Given the description of an element on the screen output the (x, y) to click on. 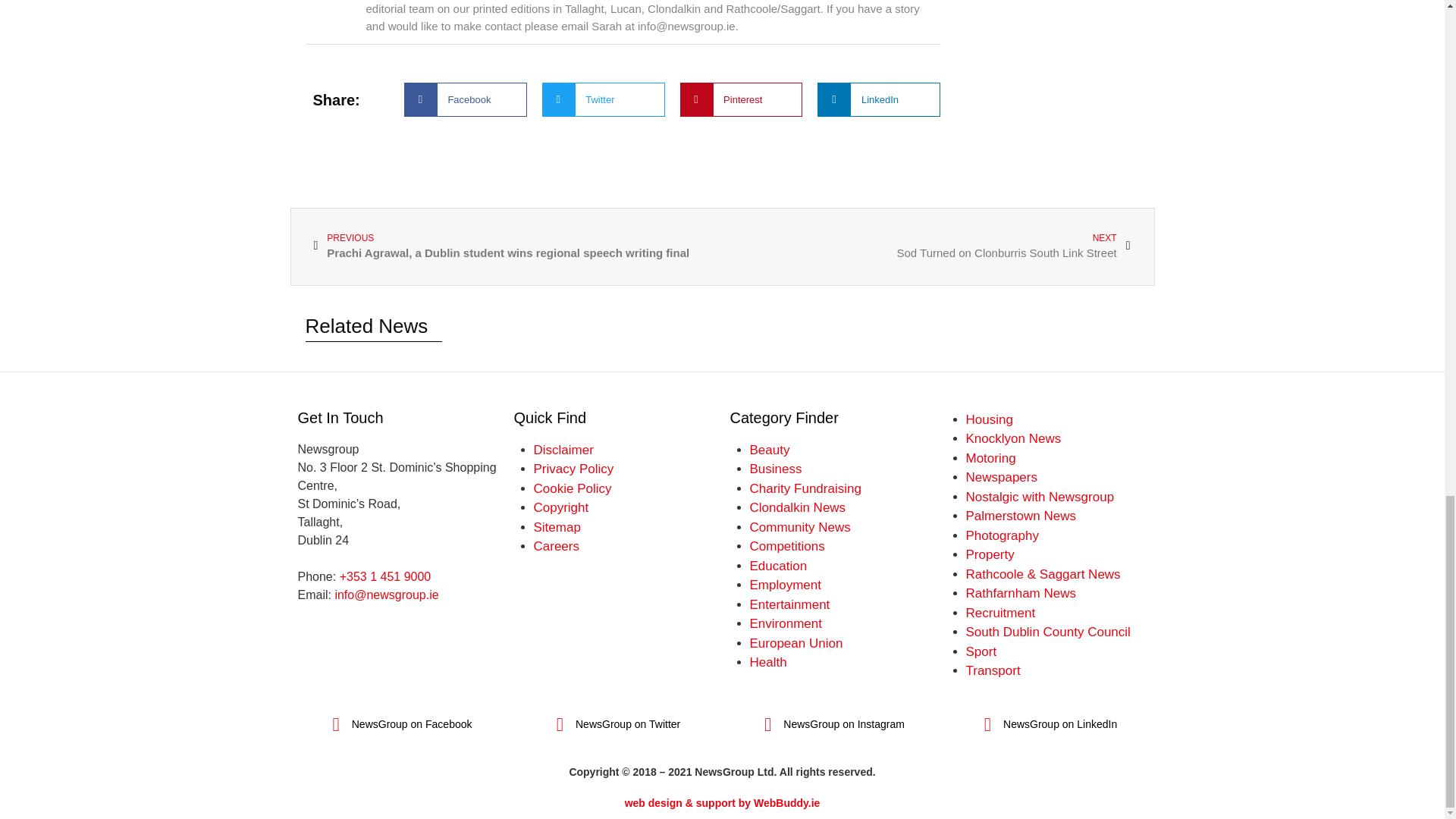
Cookie Policy (926, 246)
Scroll back to top (572, 487)
Disclaimer (1406, 265)
Privacy Policy (564, 450)
